Given the description of an element on the screen output the (x, y) to click on. 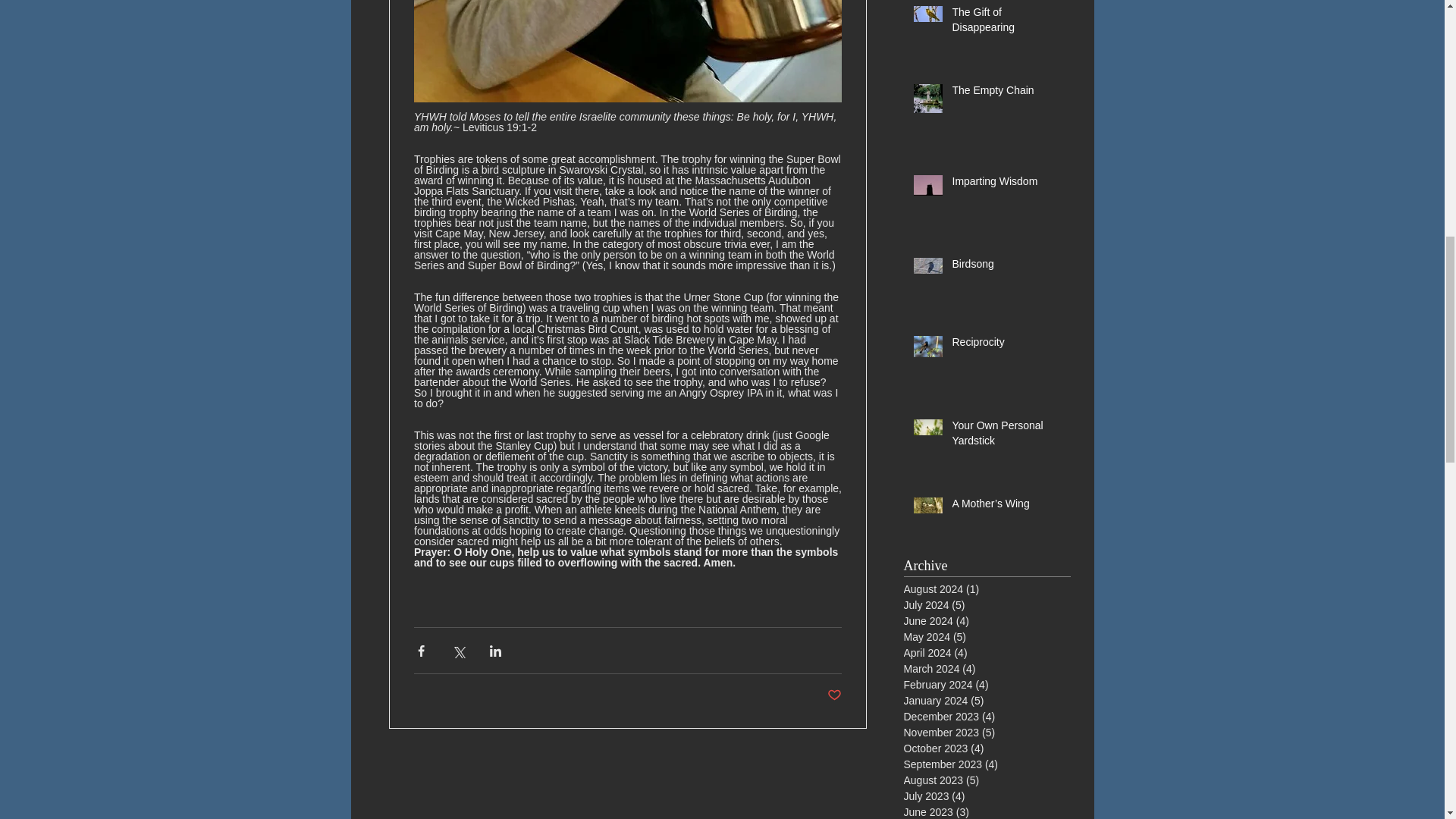
Reciprocity (1006, 345)
Imparting Wisdom (1006, 184)
Birdsong (1006, 267)
The Empty Chain (1006, 93)
Post not marked as liked (834, 695)
The Gift of Disappearing (1006, 22)
Your Own Personal Yardstick (1006, 436)
